Given the description of an element on the screen output the (x, y) to click on. 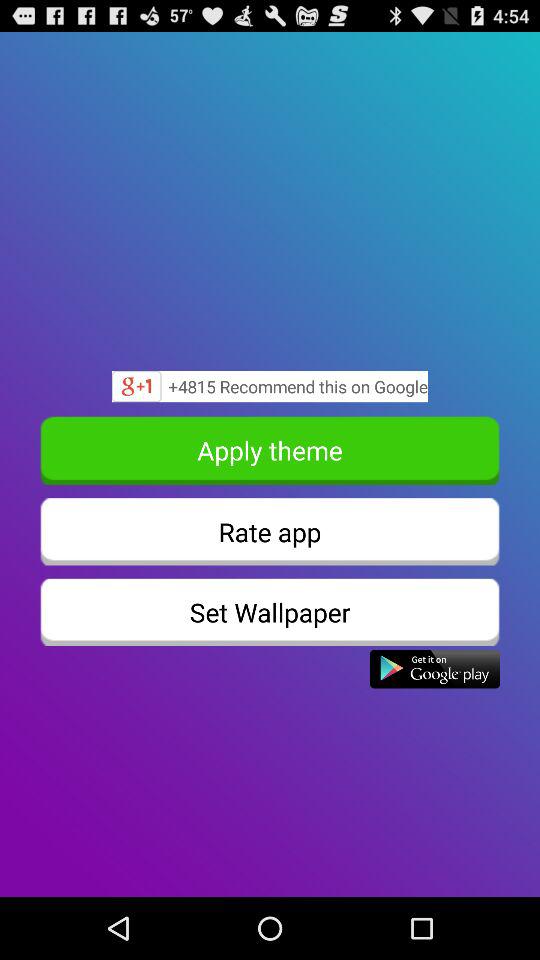
open the button above the rate app item (269, 450)
